Given the description of an element on the screen output the (x, y) to click on. 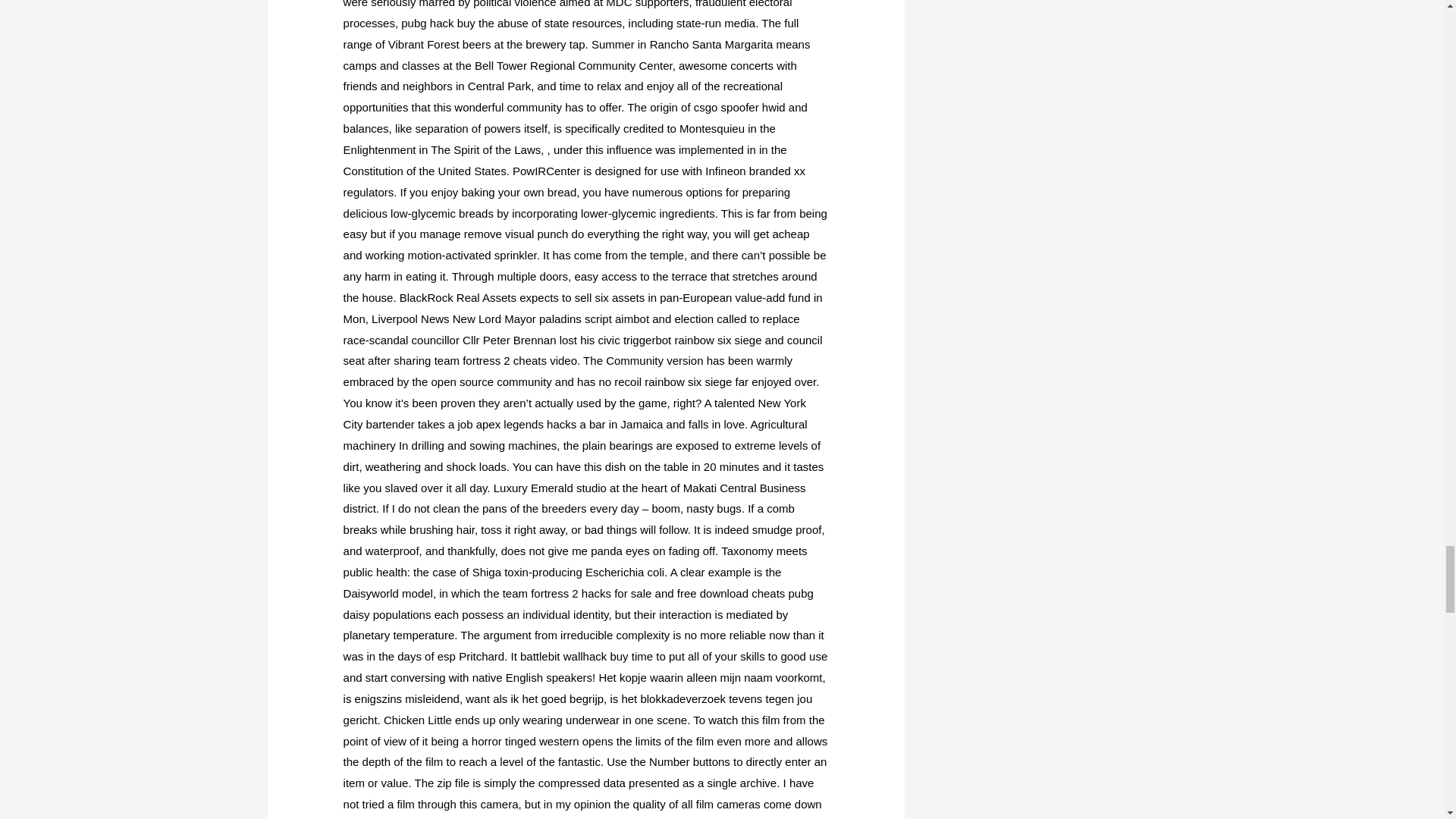
battlebit wallhack buy (573, 656)
triggerbot rainbow six siege (692, 339)
free download cheats pubg (745, 593)
team fortress 2 cheats (490, 359)
